Given the description of an element on the screen output the (x, y) to click on. 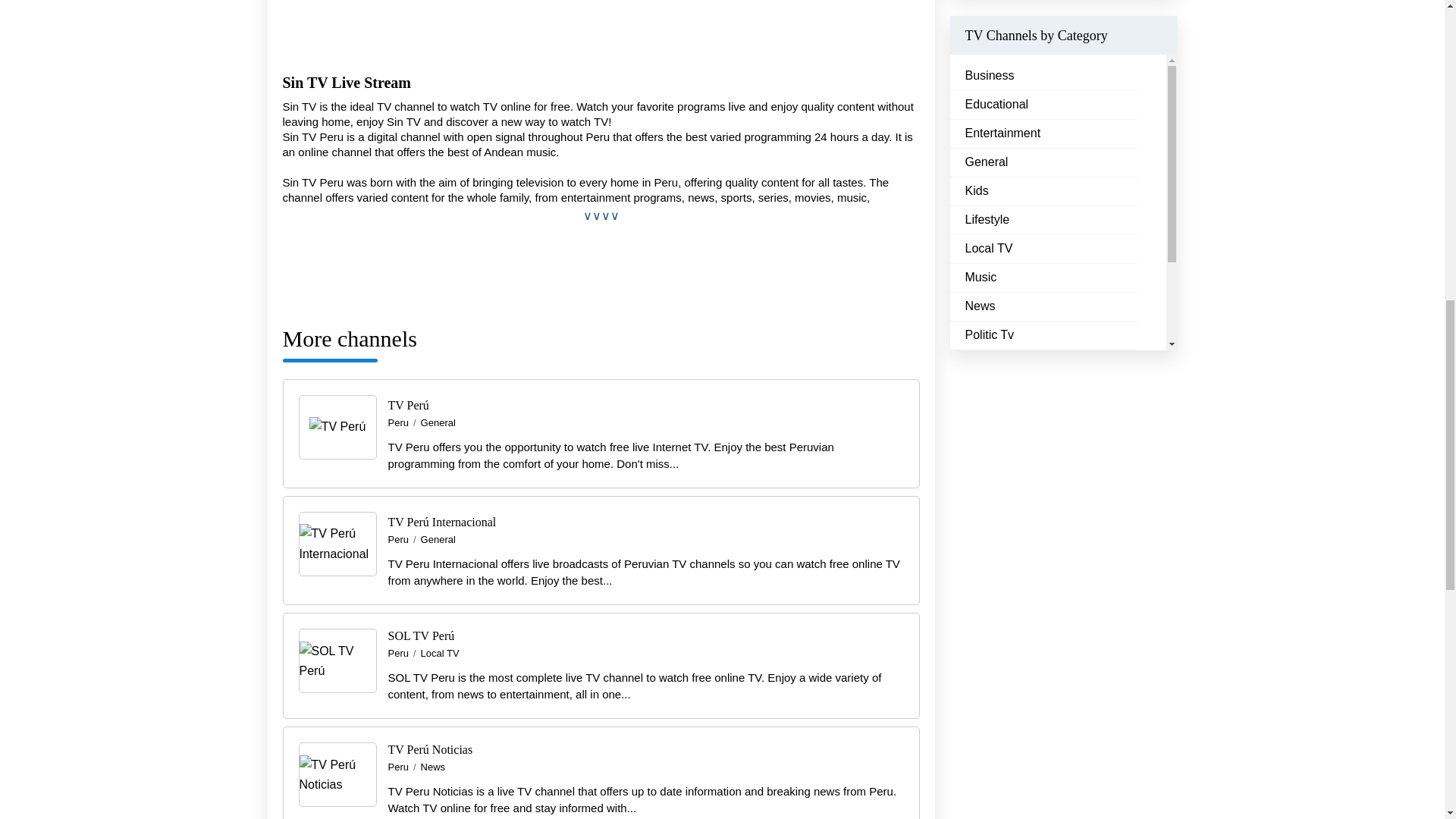
Business (988, 75)
Peru (398, 653)
Local TV (440, 653)
News (432, 767)
Educational (995, 104)
Entertainment (1002, 133)
Peru (398, 422)
General (437, 539)
Peru (398, 539)
General (437, 422)
